Given the description of an element on the screen output the (x, y) to click on. 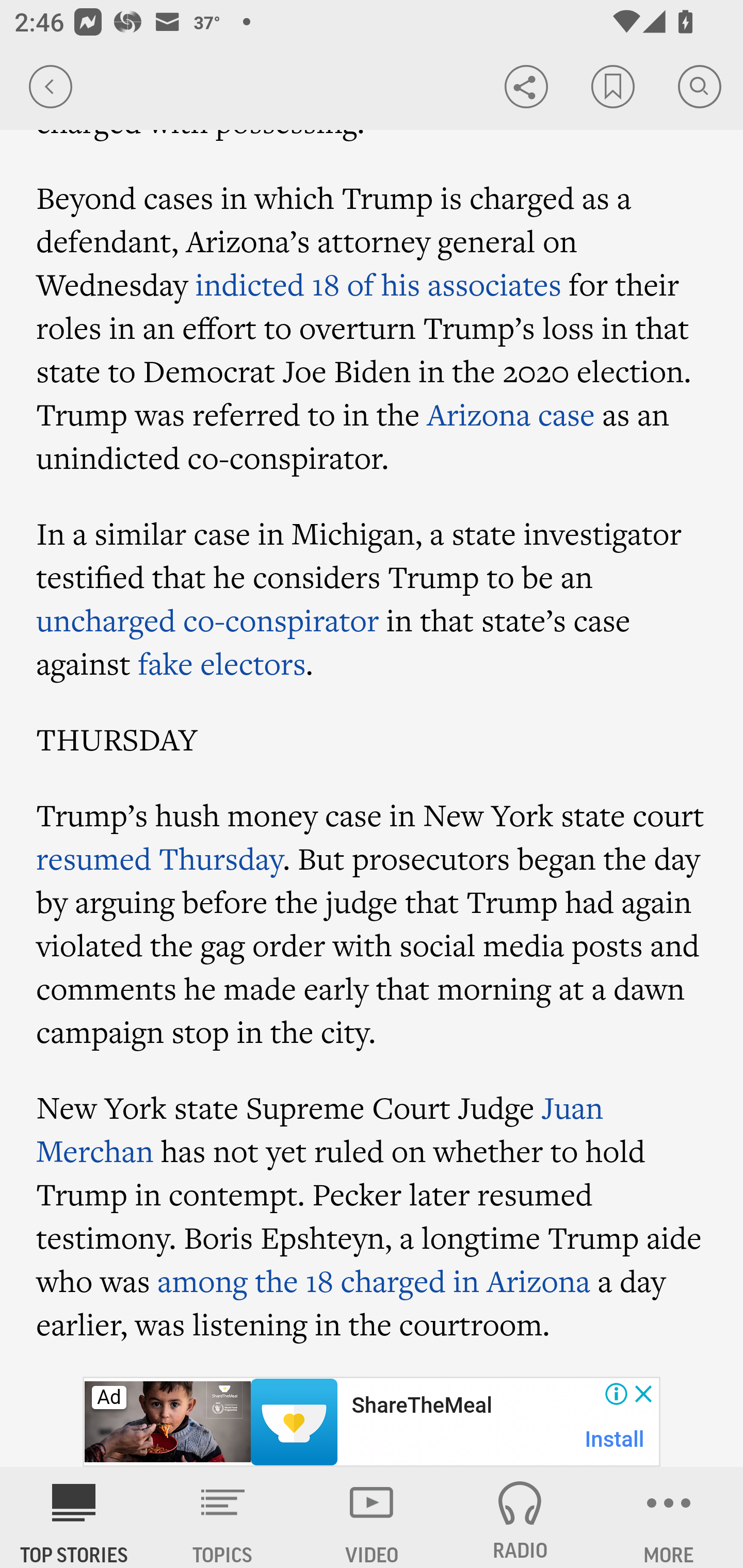
indicted 18 of his associates (377, 283)
Arizona case (510, 413)
uncharged co-conspirator (208, 619)
fake electors (221, 663)
resumed Thursday (159, 858)
Juan Merchan (320, 1128)
among the 18 charged in Arizona (374, 1281)
ShareTheMeal (420, 1405)
Install (614, 1438)
AP News TOP STORIES (74, 1517)
TOPICS (222, 1517)
VIDEO (371, 1517)
RADIO (519, 1517)
MORE (668, 1517)
seemed skeptical (498, 1529)
